Given the description of an element on the screen output the (x, y) to click on. 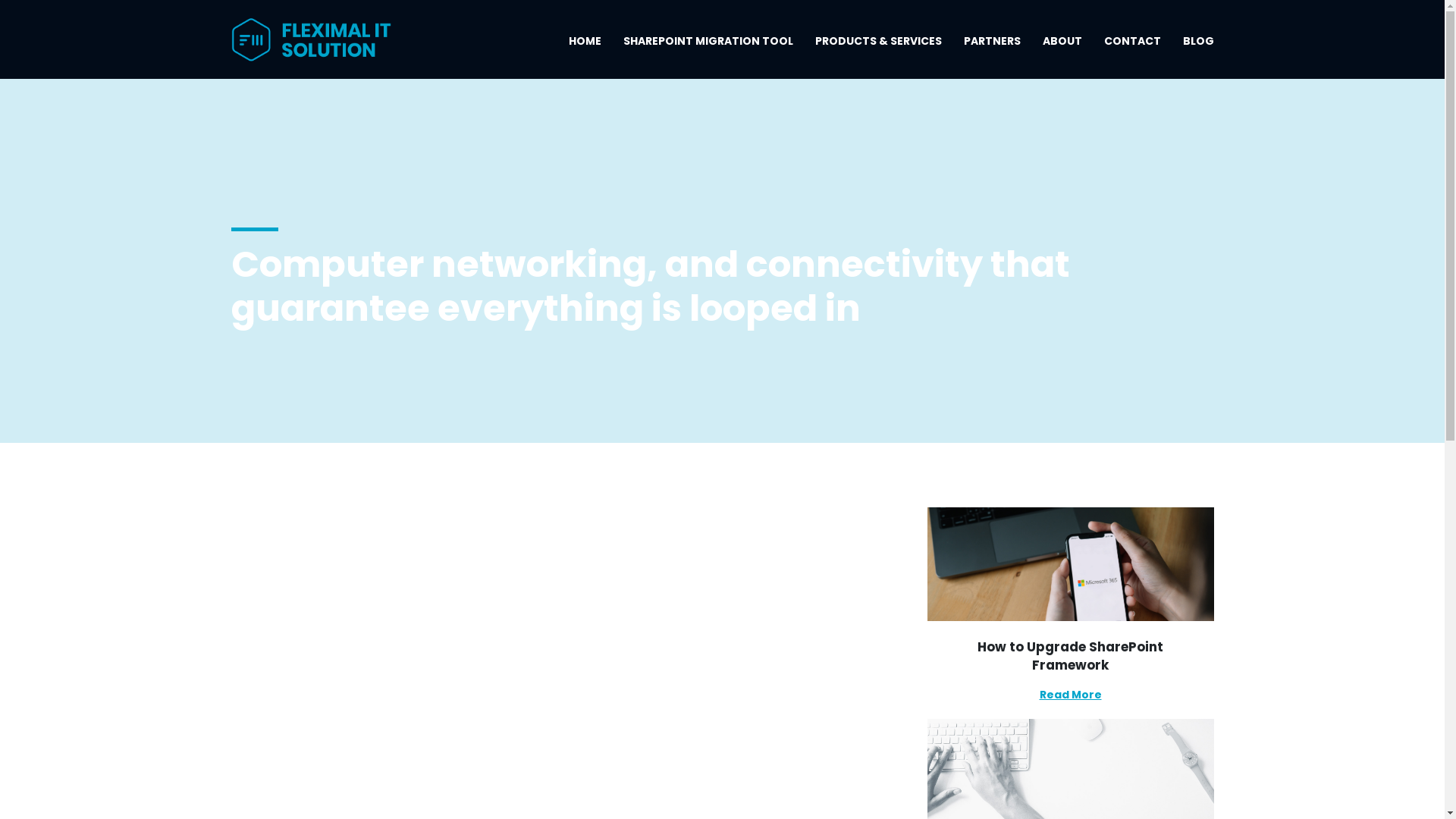
CONTACT Element type: text (1132, 46)
HOME Element type: text (584, 46)
SHAREPOINT MIGRATION TOOL Element type: text (708, 46)
PARTNERS Element type: text (991, 46)
ABOUT Element type: text (1061, 46)
BLOG Element type: text (1198, 46)
Read More Element type: text (1069, 694)
PRODUCTS & SERVICES Element type: text (877, 46)
